Given the description of an element on the screen output the (x, y) to click on. 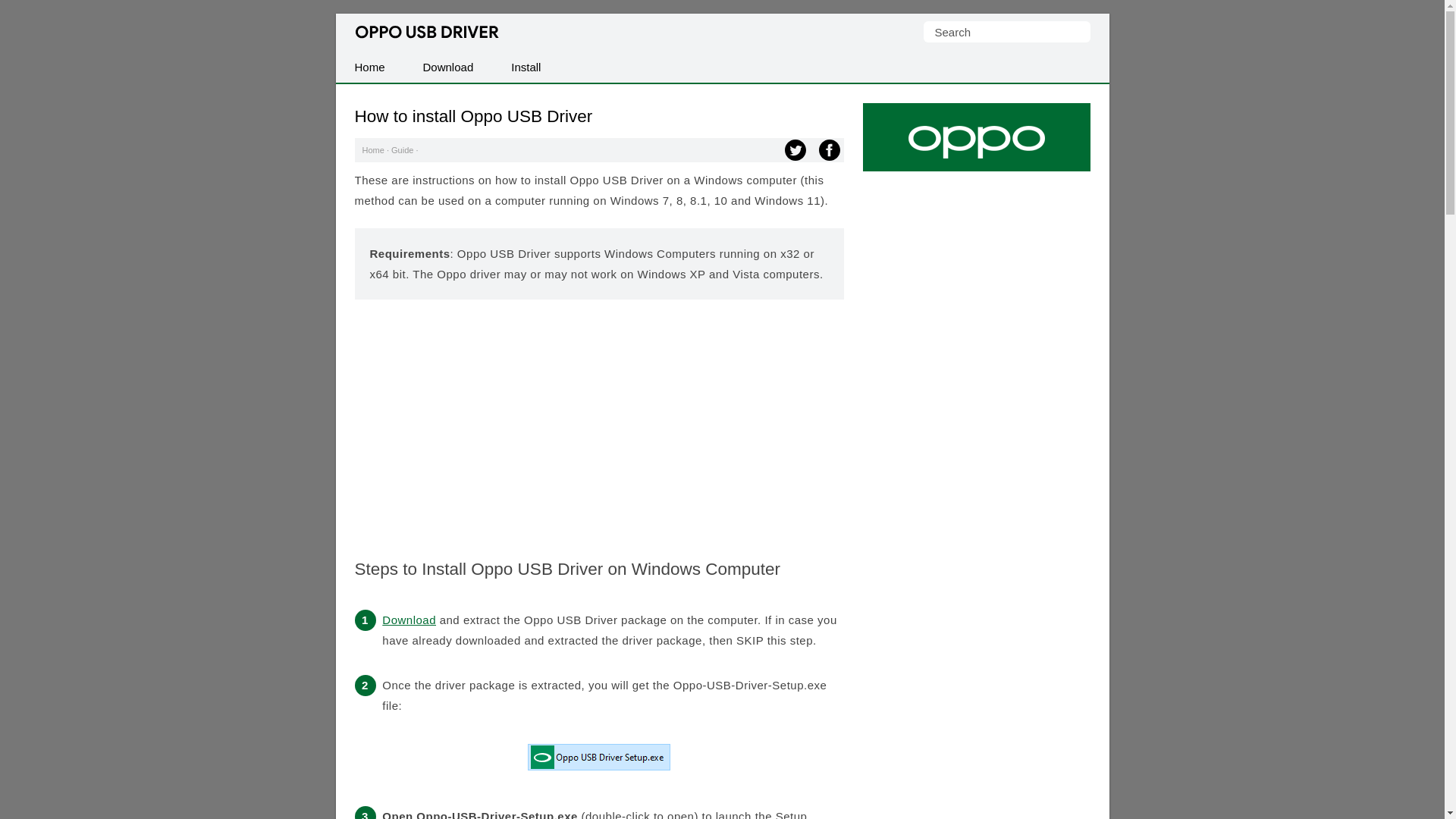
Advertisement (599, 417)
Oppo USB Driver (427, 31)
Oppo Stock ROM (976, 144)
Download (408, 619)
Home (368, 66)
Download (448, 66)
Install (525, 66)
Oppo USB Driver (427, 31)
Advertisement (976, 745)
Home (373, 149)
Search (1006, 31)
Guide (402, 149)
